Given the description of an element on the screen output the (x, y) to click on. 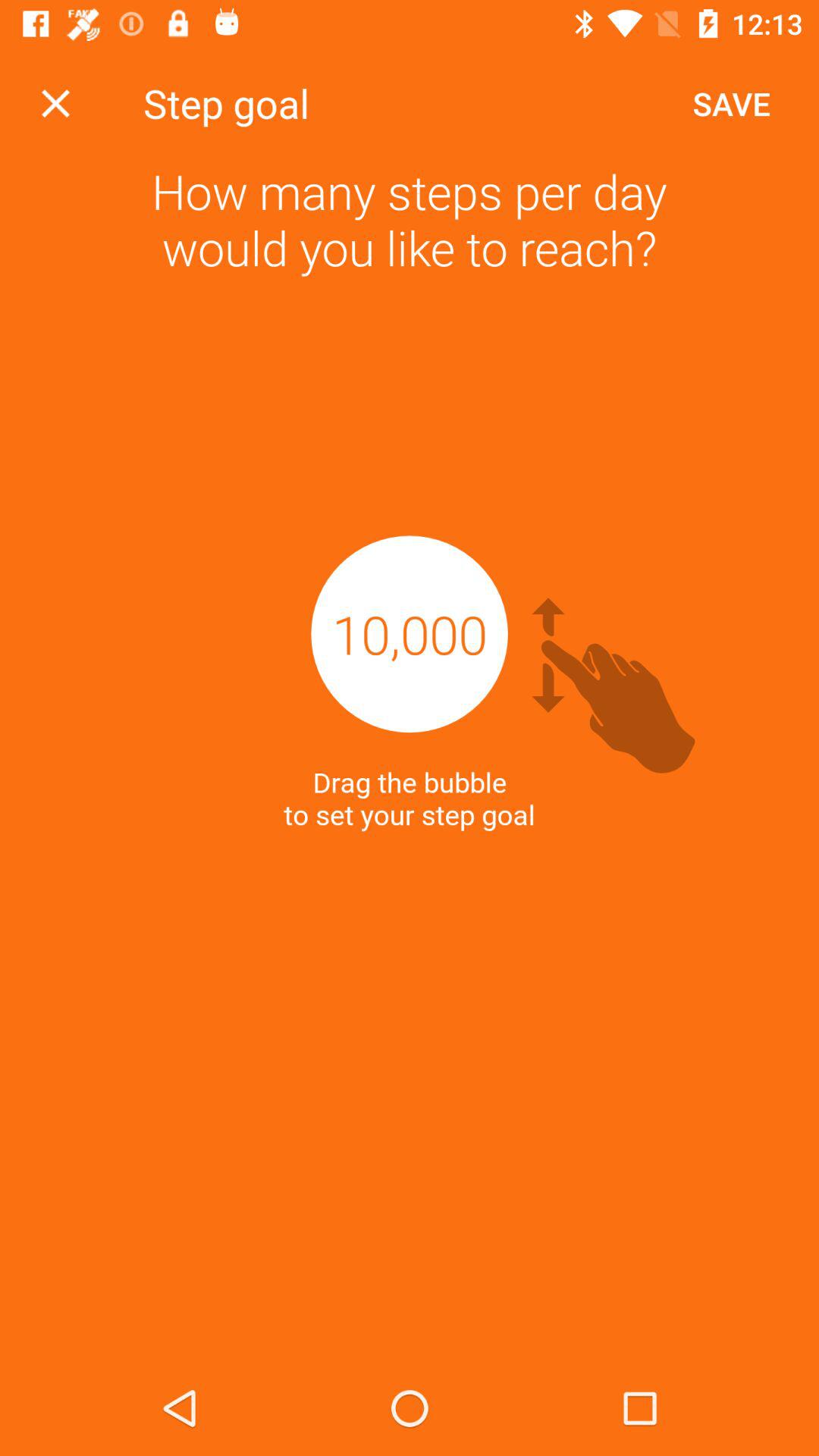
tap the save item (731, 103)
